Given the description of an element on the screen output the (x, y) to click on. 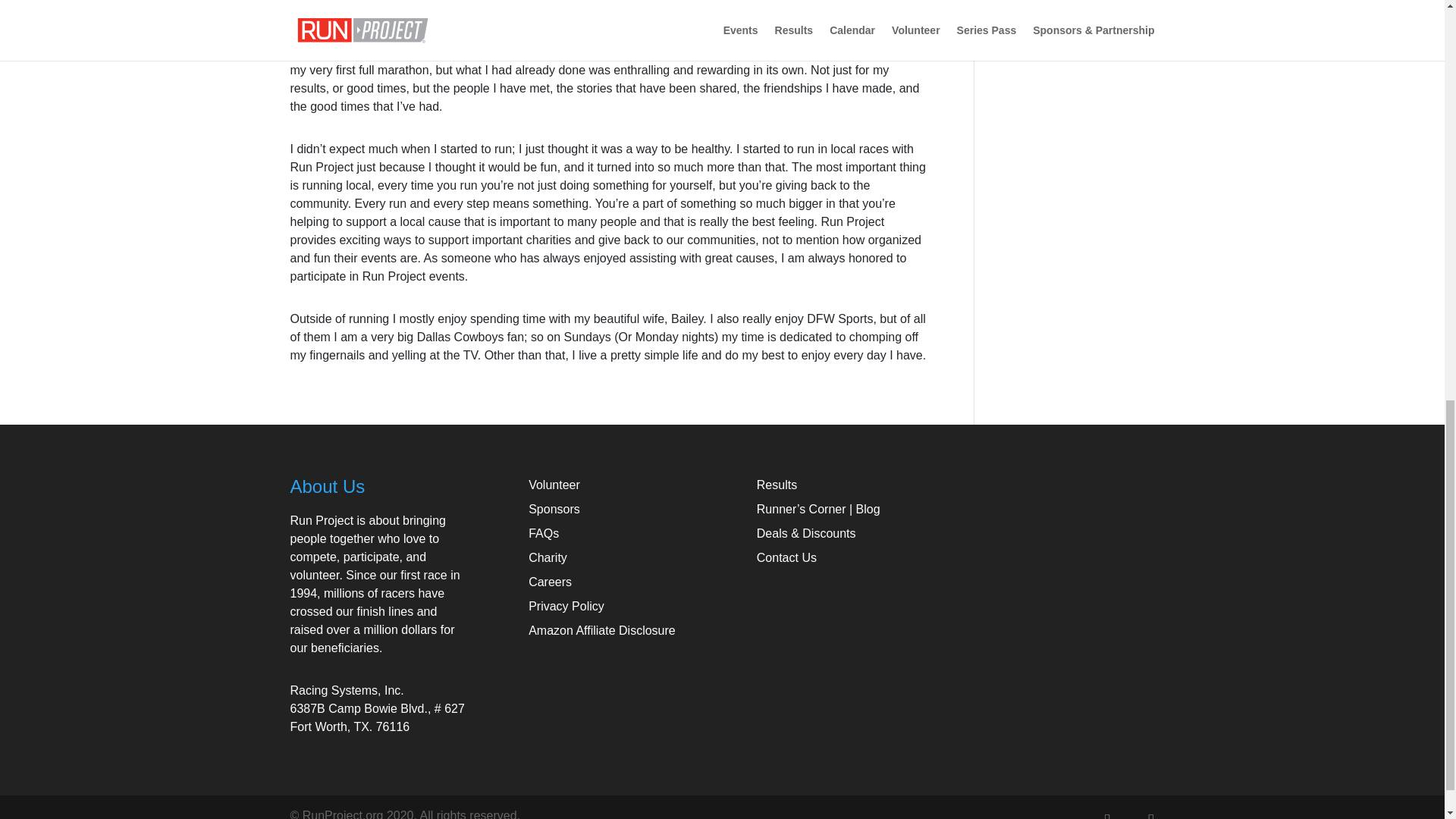
Privacy Policy (566, 605)
Careers (550, 581)
FAQs (543, 533)
Charity (547, 557)
Results (776, 484)
Contact Us (786, 557)
Volunteer (553, 484)
Sponsors (553, 508)
Amazon Affiliate Disclosure (601, 630)
